Given the description of an element on the screen output the (x, y) to click on. 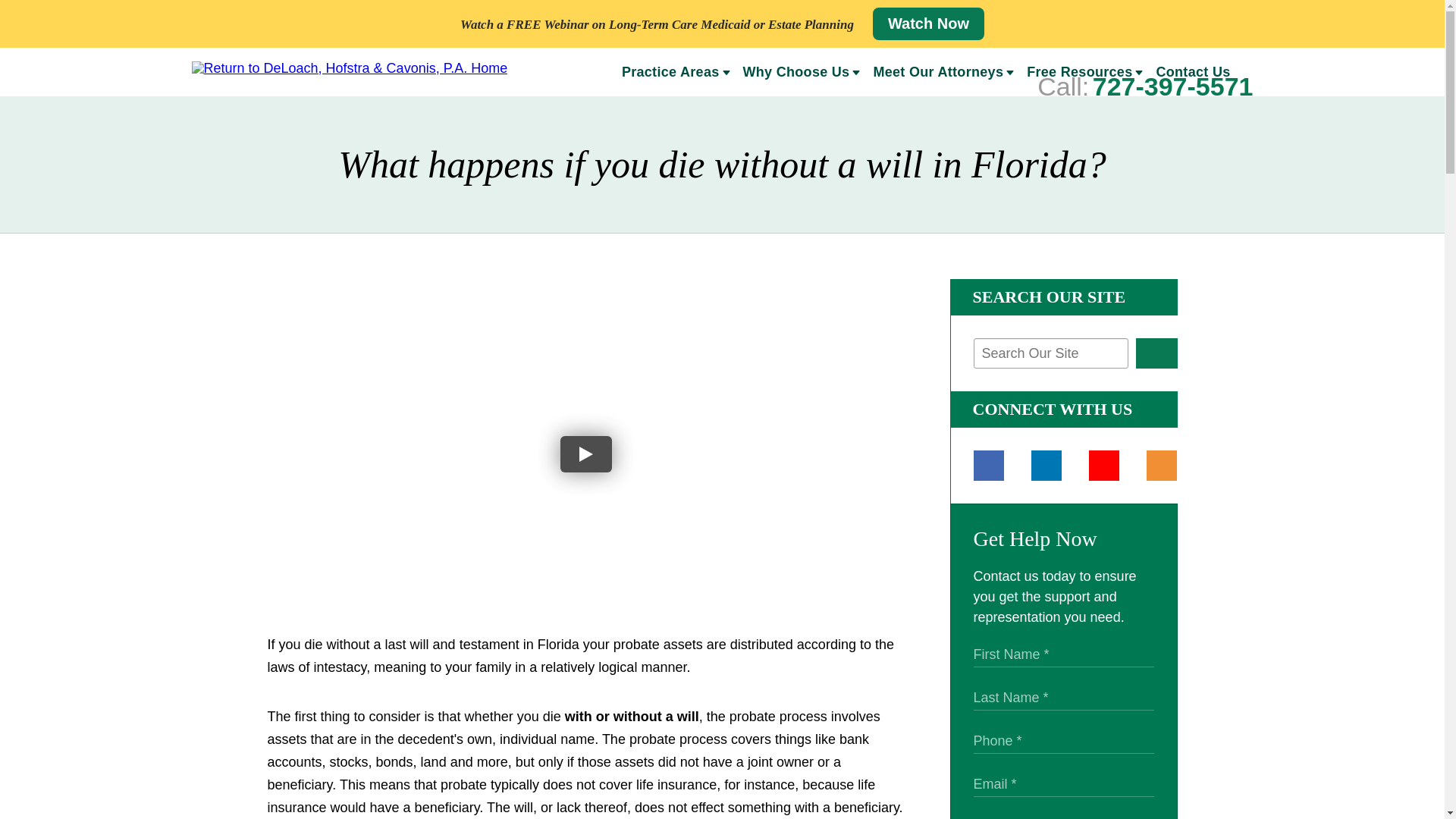
Why Choose Us (791, 74)
Search (1156, 353)
call local (1173, 86)
727-397-5571 (1173, 86)
Watch Now (928, 23)
Practice Areas (664, 74)
